Given the description of an element on the screen output the (x, y) to click on. 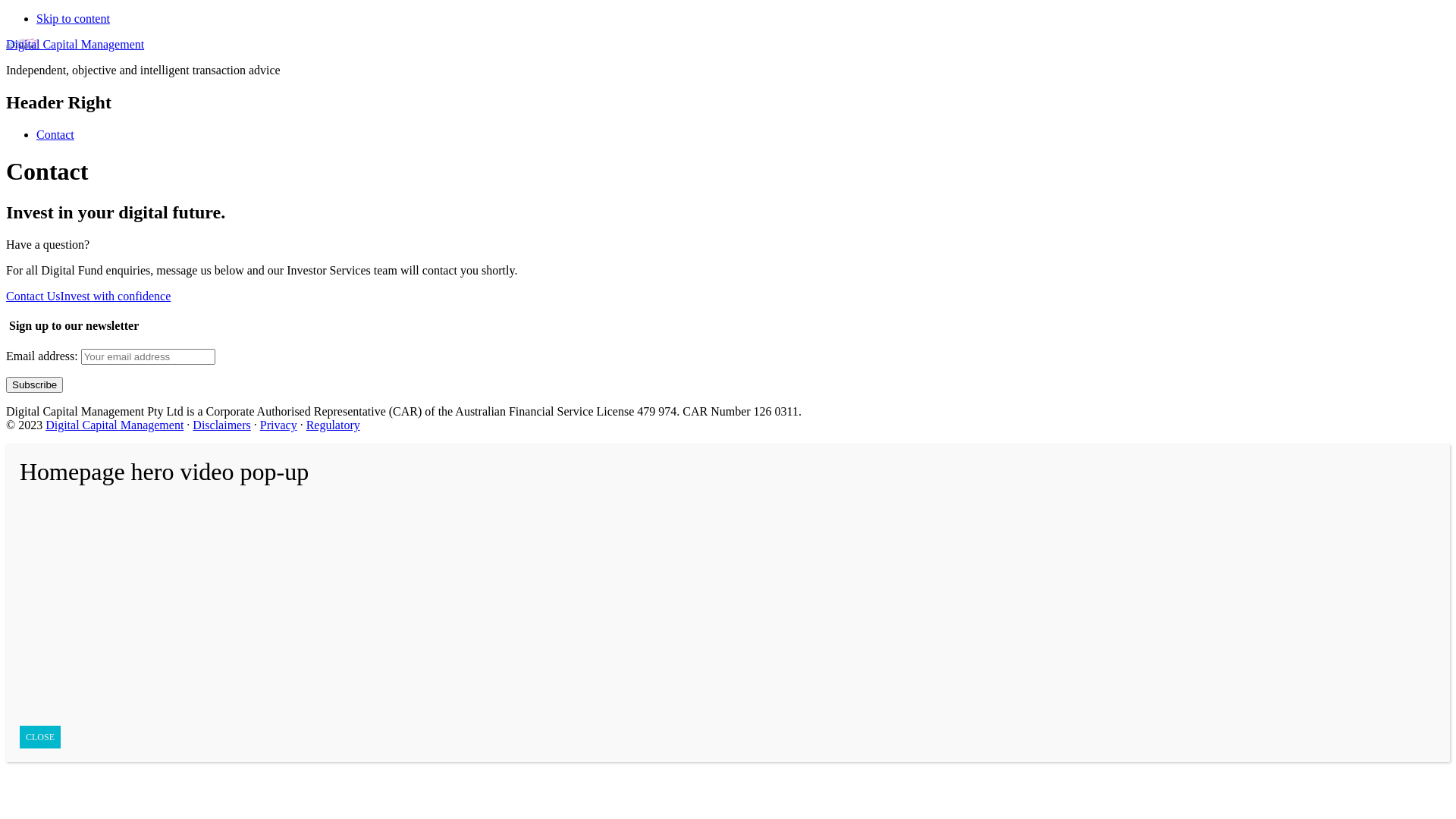
Subscribe Element type: text (34, 384)
Disclaimers Element type: text (221, 424)
Skip to content Element type: text (72, 18)
Contact Element type: text (55, 134)
Contact Us Element type: text (33, 295)
CLOSE Element type: text (39, 736)
Digital Capital Management Element type: text (75, 43)
Invest with confidence Element type: text (115, 295)
Digital Capital Management Element type: text (114, 424)
Regulatory Element type: text (333, 424)
Privacy Element type: text (278, 424)
